Given the description of an element on the screen output the (x, y) to click on. 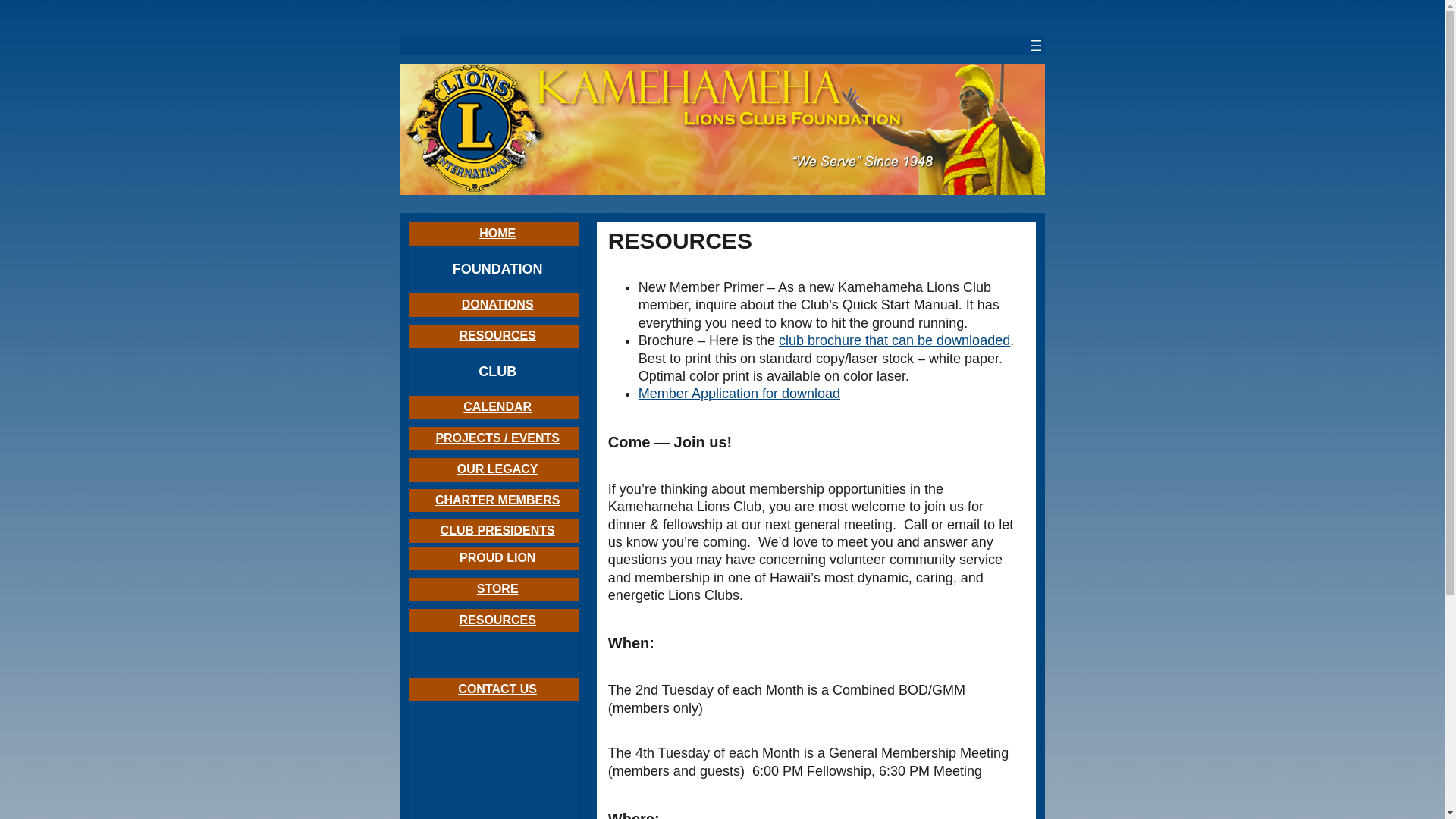
CLUB PRESIDENTS (497, 530)
Member Application for download (739, 393)
DONATIONS (497, 304)
CONTACT US (497, 688)
CHARTER MEMBERS (497, 499)
OUR LEGACY (497, 468)
PROUD LION (497, 557)
RESOURCES (497, 335)
STORE (497, 588)
RESOURCES (497, 619)
HOME (497, 232)
club brochure that can be downloaded (894, 340)
CALENDAR (497, 406)
